Given the description of an element on the screen output the (x, y) to click on. 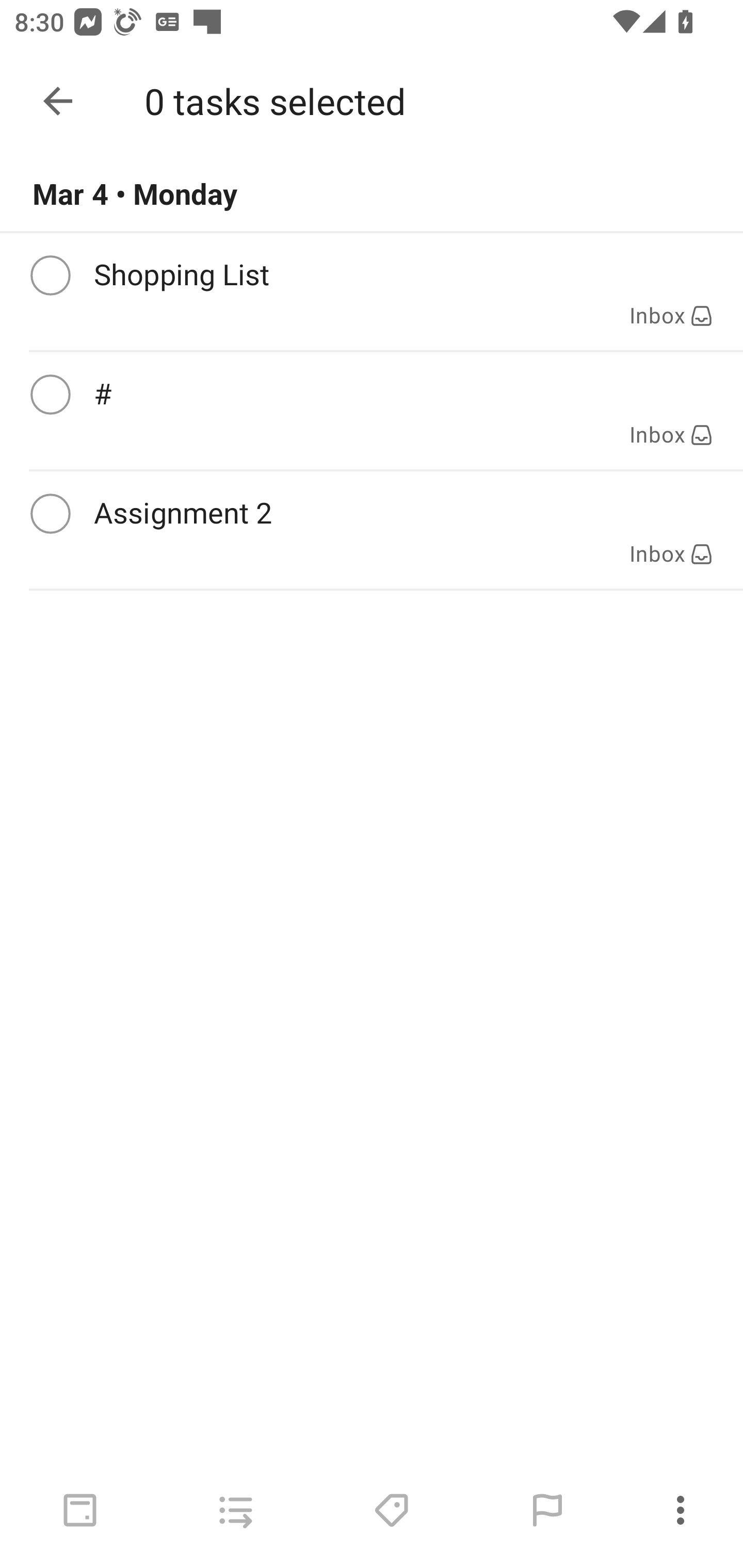
Today More options (371, 100)
Done (57, 100)
Mar 4 • Monday (371, 194)
Complete Shopping List Inbox (371, 291)
Complete (50, 275)
Complete # Inbox (371, 410)
Complete (50, 395)
Complete Assignment 2 Inbox (371, 529)
Complete (50, 514)
Schedule (80, 1510)
Move (235, 1510)
Labels (391, 1510)
Set priority (547, 1510)
More options (683, 1510)
